Given the description of an element on the screen output the (x, y) to click on. 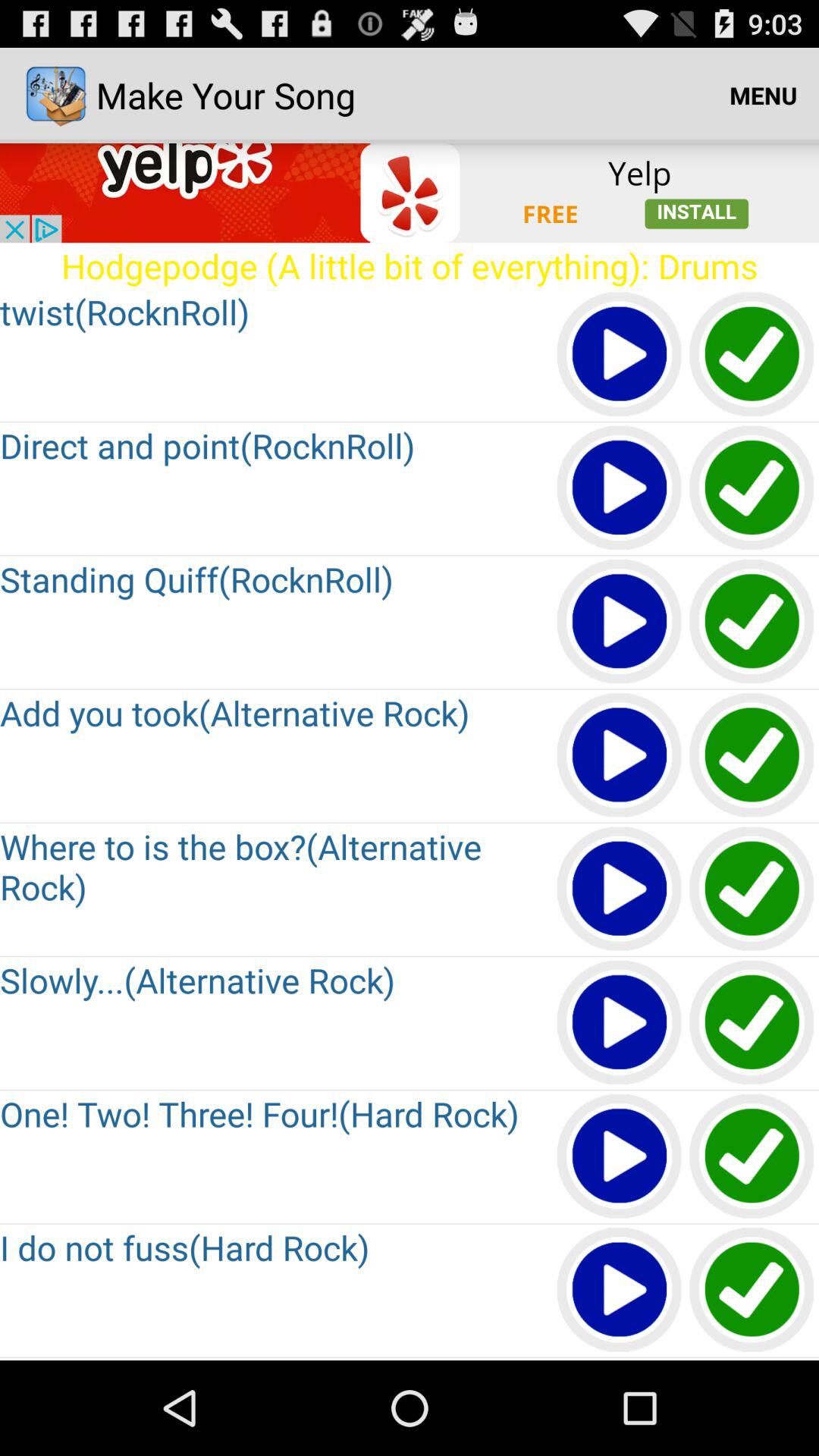
install yelp app (409, 192)
